Given the description of an element on the screen output the (x, y) to click on. 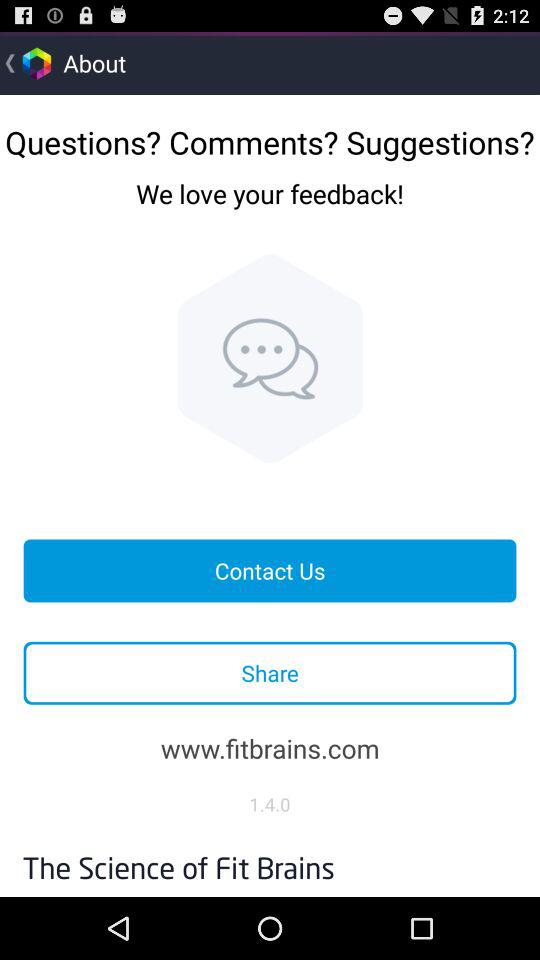
swipe to questions? comments? suggestions? item (270, 134)
